Given the description of an element on the screen output the (x, y) to click on. 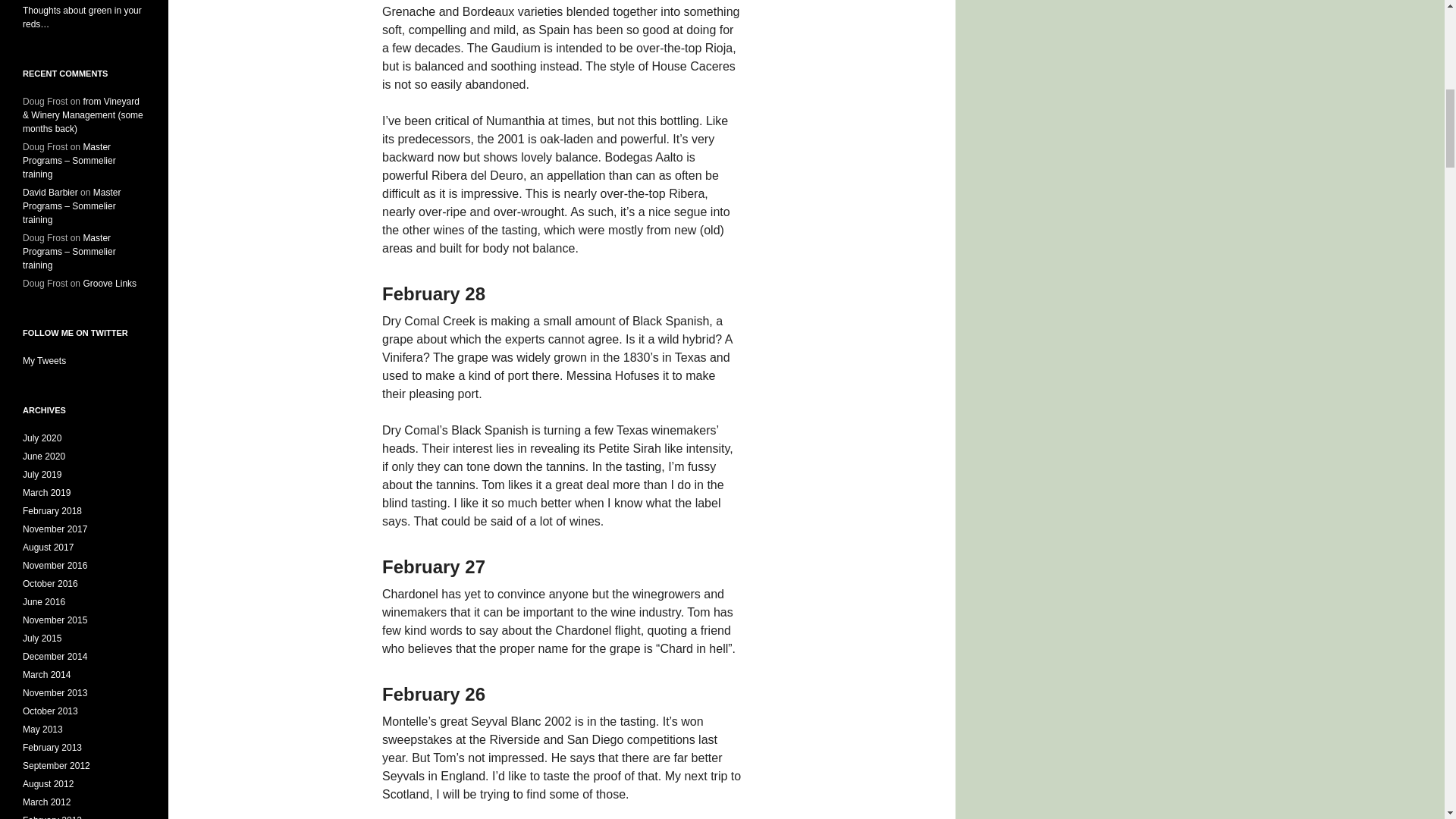
July 2020 (42, 438)
March 2019 (46, 492)
My Tweets (44, 360)
June 2020 (44, 456)
David Barbier (50, 192)
Groove Links (109, 283)
July 2019 (42, 474)
